Given the description of an element on the screen output the (x, y) to click on. 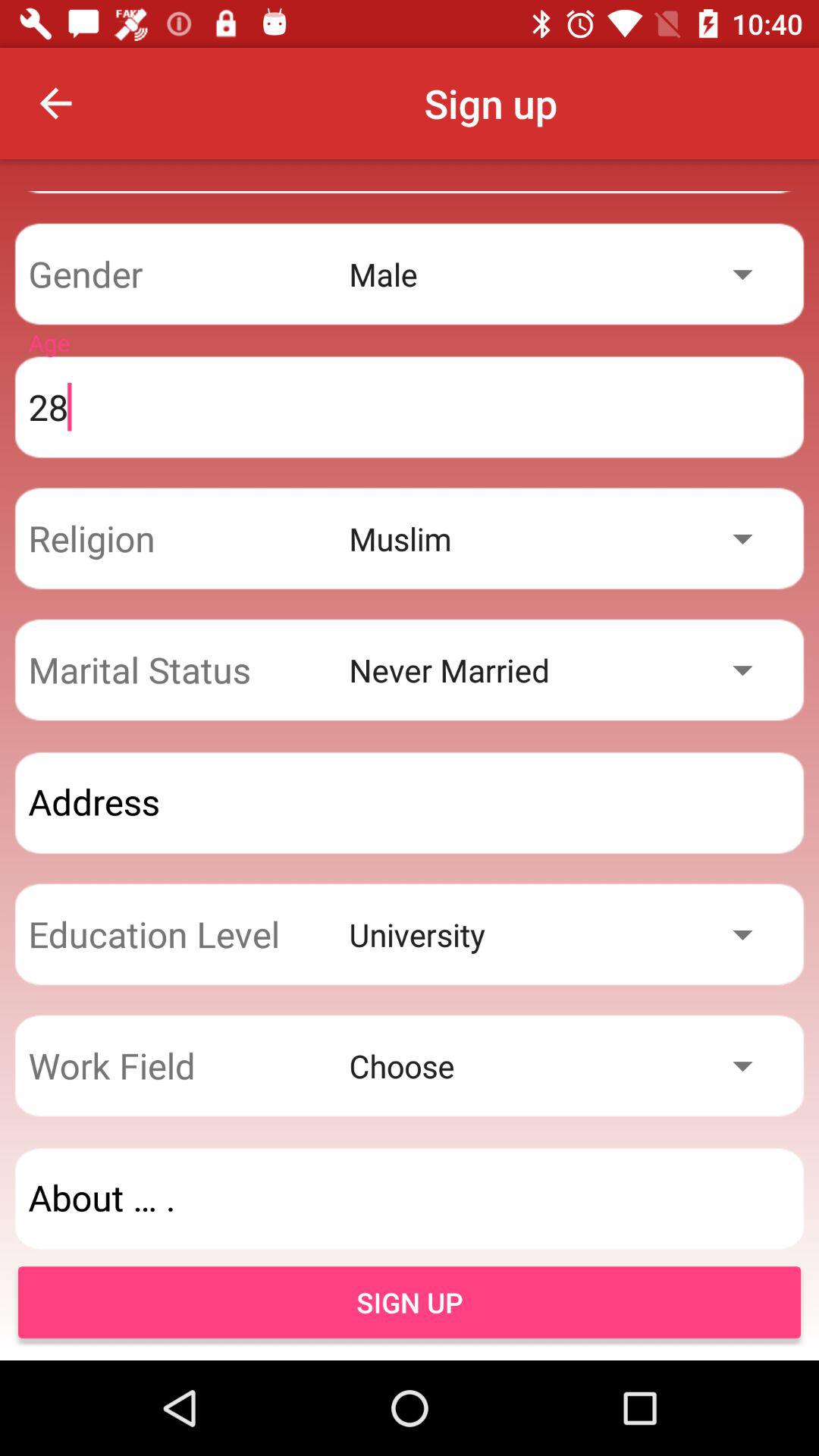
adress entering bar (409, 802)
